Given the description of an element on the screen output the (x, y) to click on. 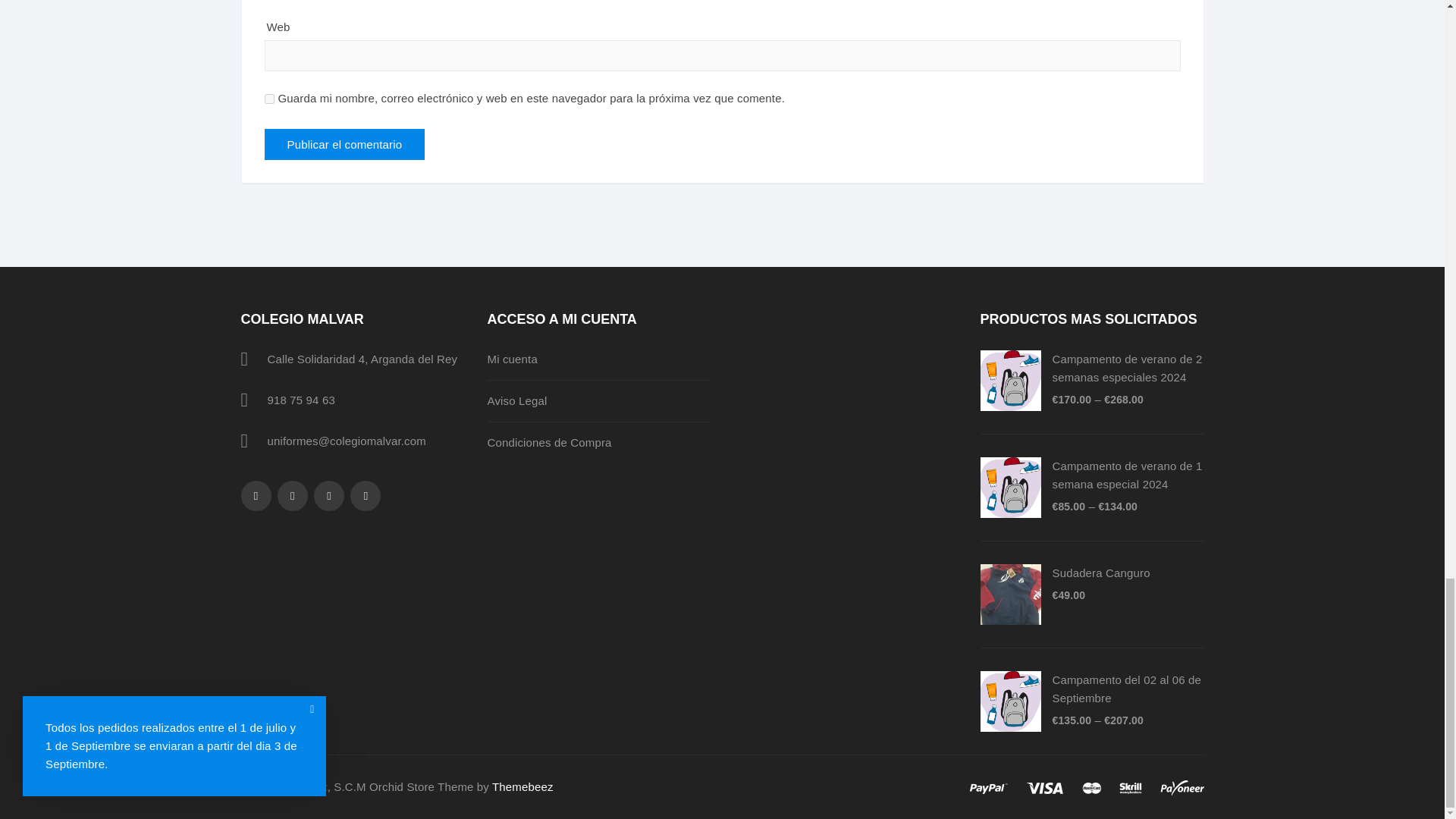
Publicar el comentario (344, 143)
yes (268, 99)
Publicar el comentario (344, 143)
